Given the description of an element on the screen output the (x, y) to click on. 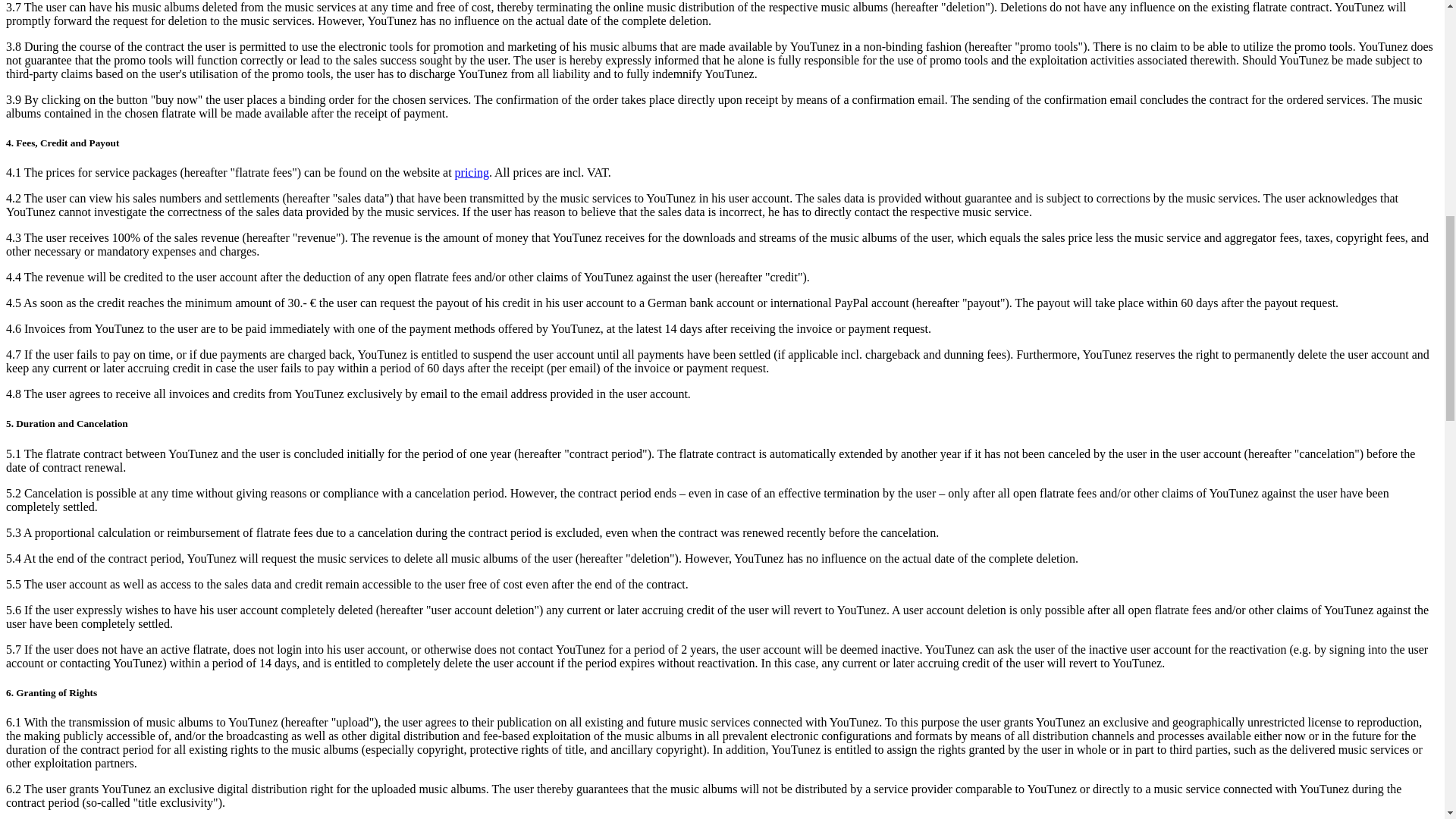
pricing (471, 172)
Music Distribution Flatrate (471, 172)
